Given the description of an element on the screen output the (x, y) to click on. 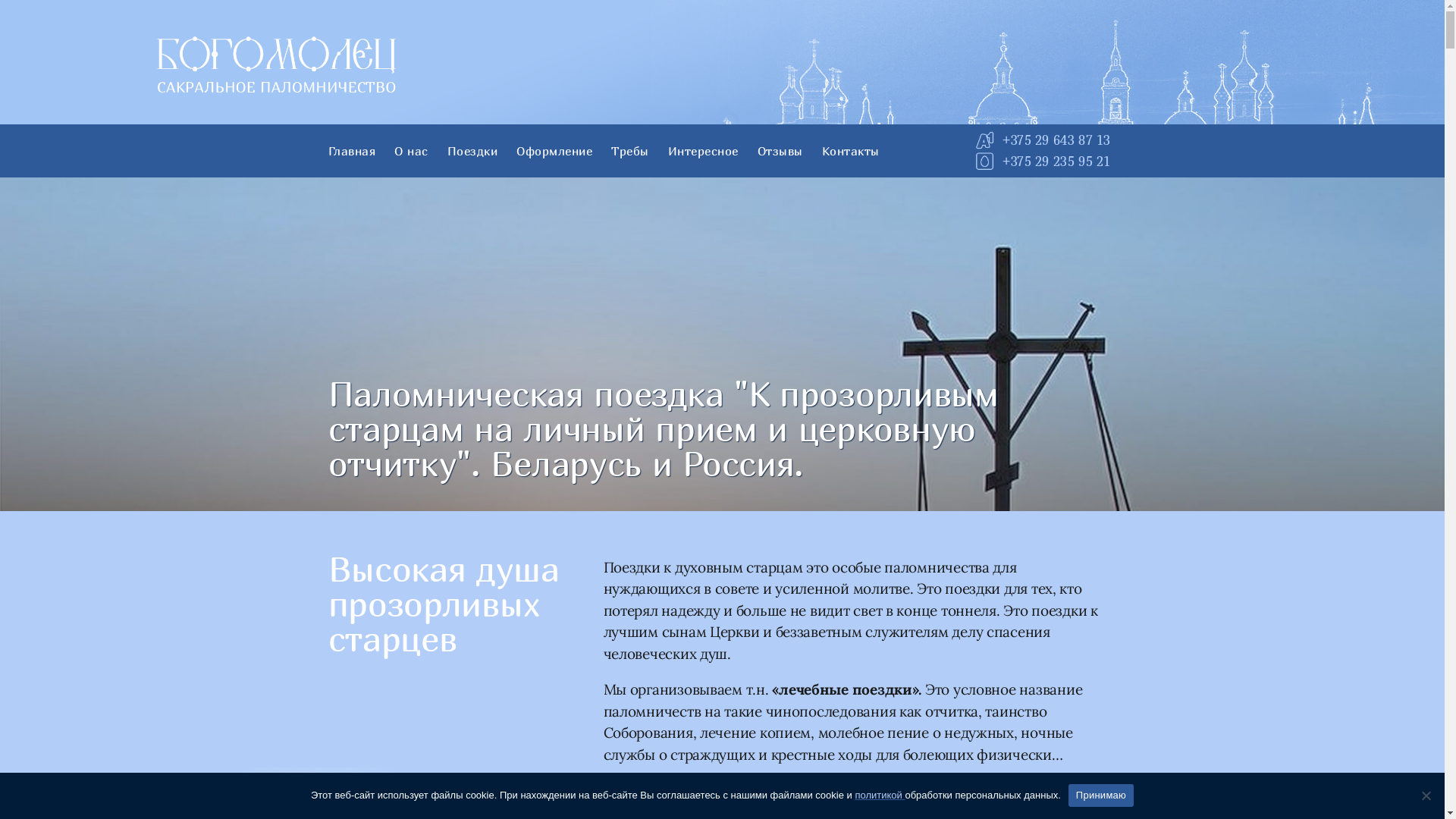
+375 29 643 87 13 Element type: text (1055, 139)
+375 29 235 95 21 Element type: text (1055, 161)
